Given the description of an element on the screen output the (x, y) to click on. 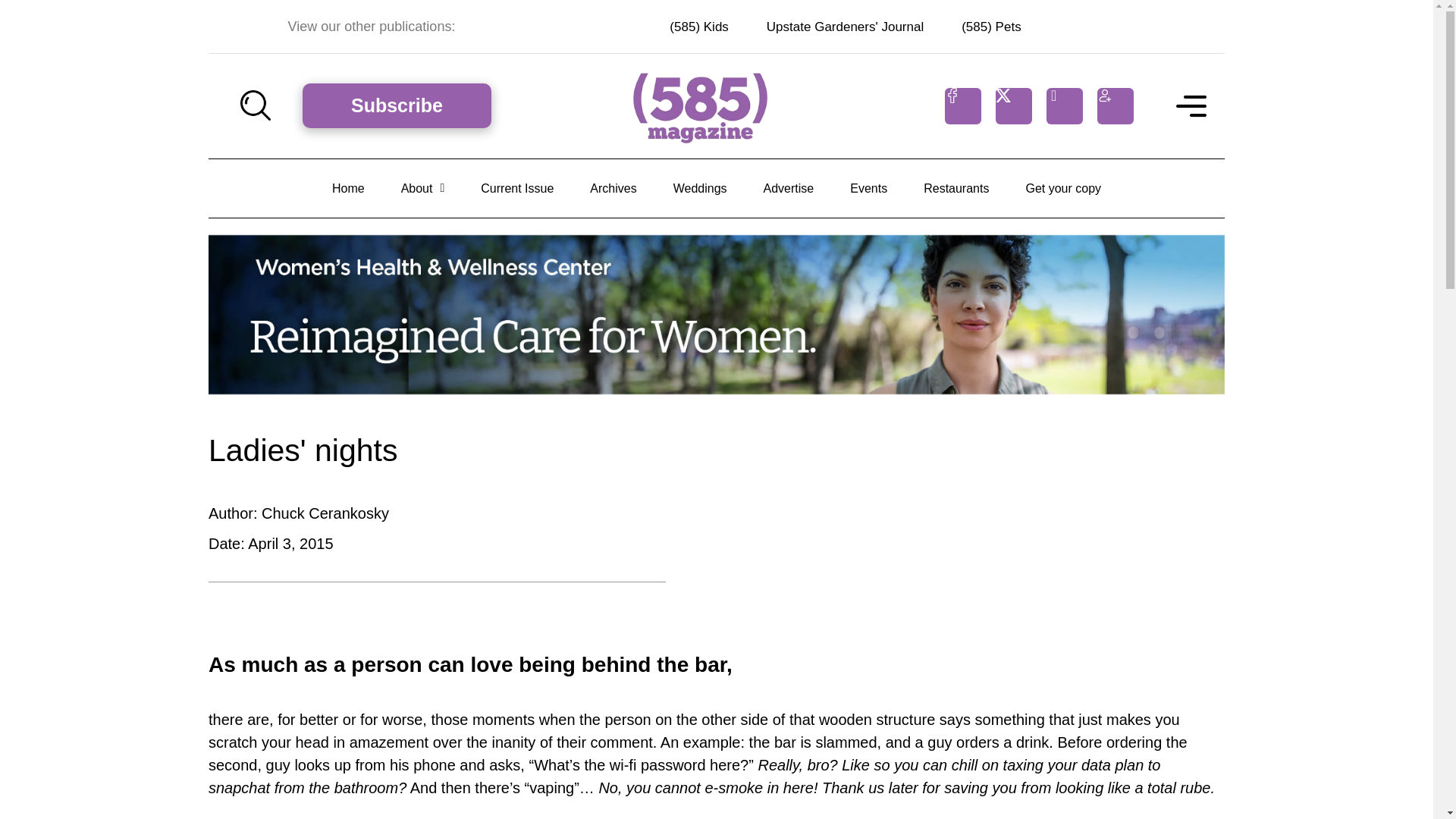
Upstate Gardeners' Journal (845, 26)
